Given the description of an element on the screen output the (x, y) to click on. 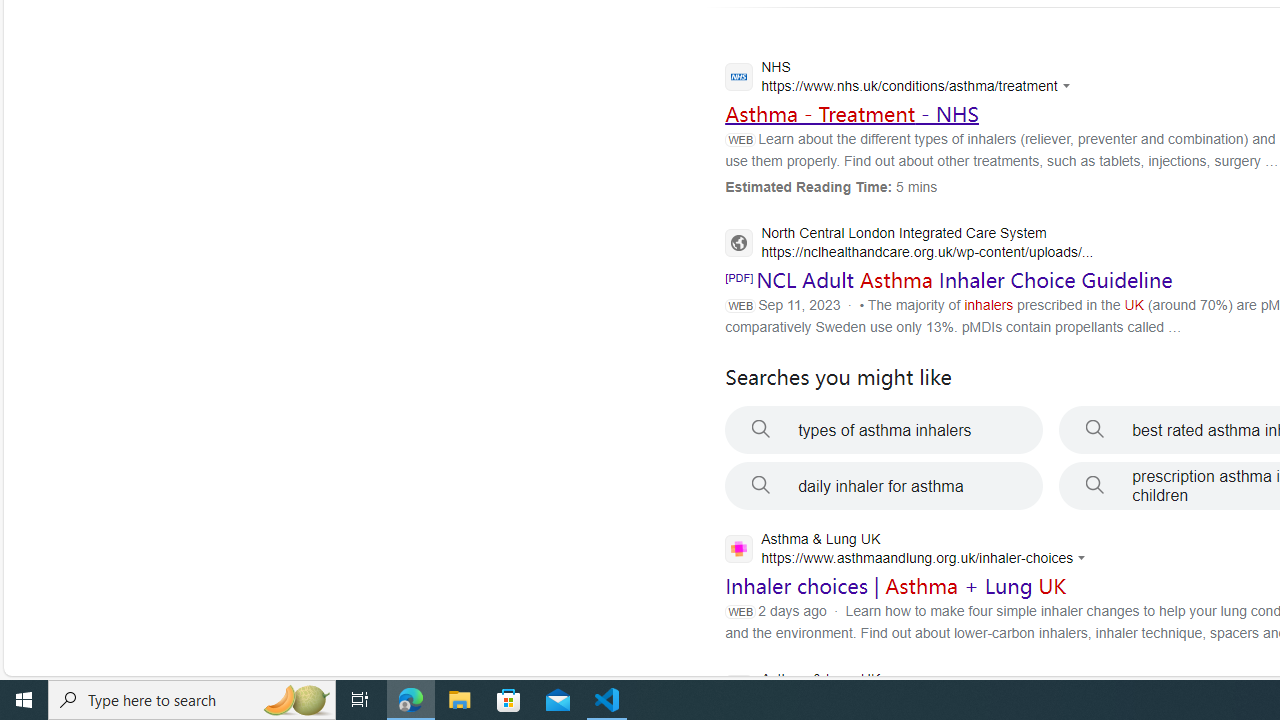
Inhaler choices | Asthma + Lung UK (895, 586)
types of asthma inhalers (884, 430)
NHS (902, 79)
Asthma - Treatment - NHS (851, 113)
North Central London Integrated Care System (909, 244)
types of asthma inhalers (884, 430)
Asthma & Lung UK (902, 691)
Estimated Reading Time: 5 mins (831, 186)
daily inhaler for asthma (884, 485)
daily inhaler for asthma (884, 485)
